Given the description of an element on the screen output the (x, y) to click on. 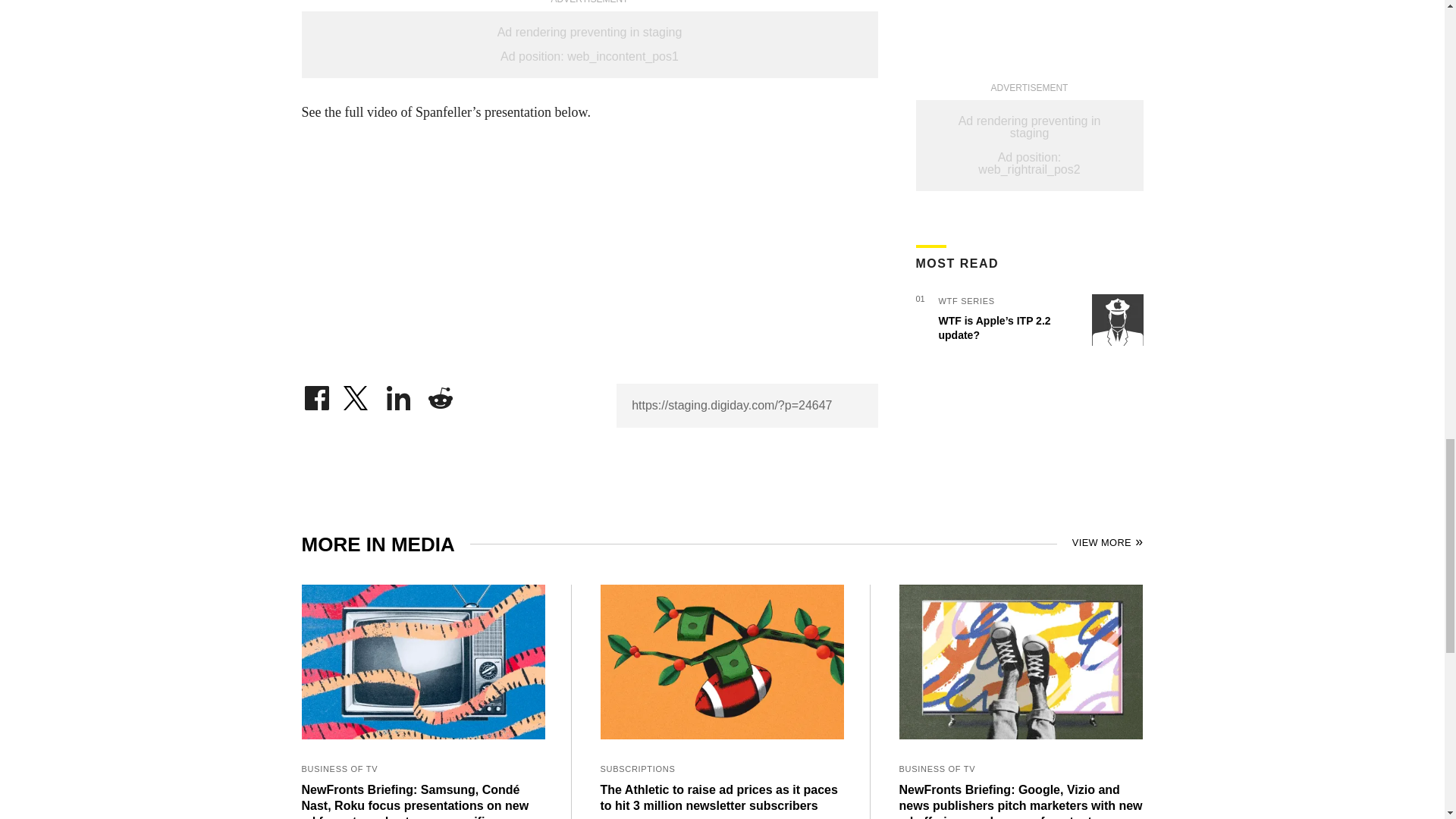
Share on LinkedIn (398, 394)
Share on Reddit (440, 394)
Share on Facebook (316, 394)
Share on Twitter (357, 394)
